Given the description of an element on the screen output the (x, y) to click on. 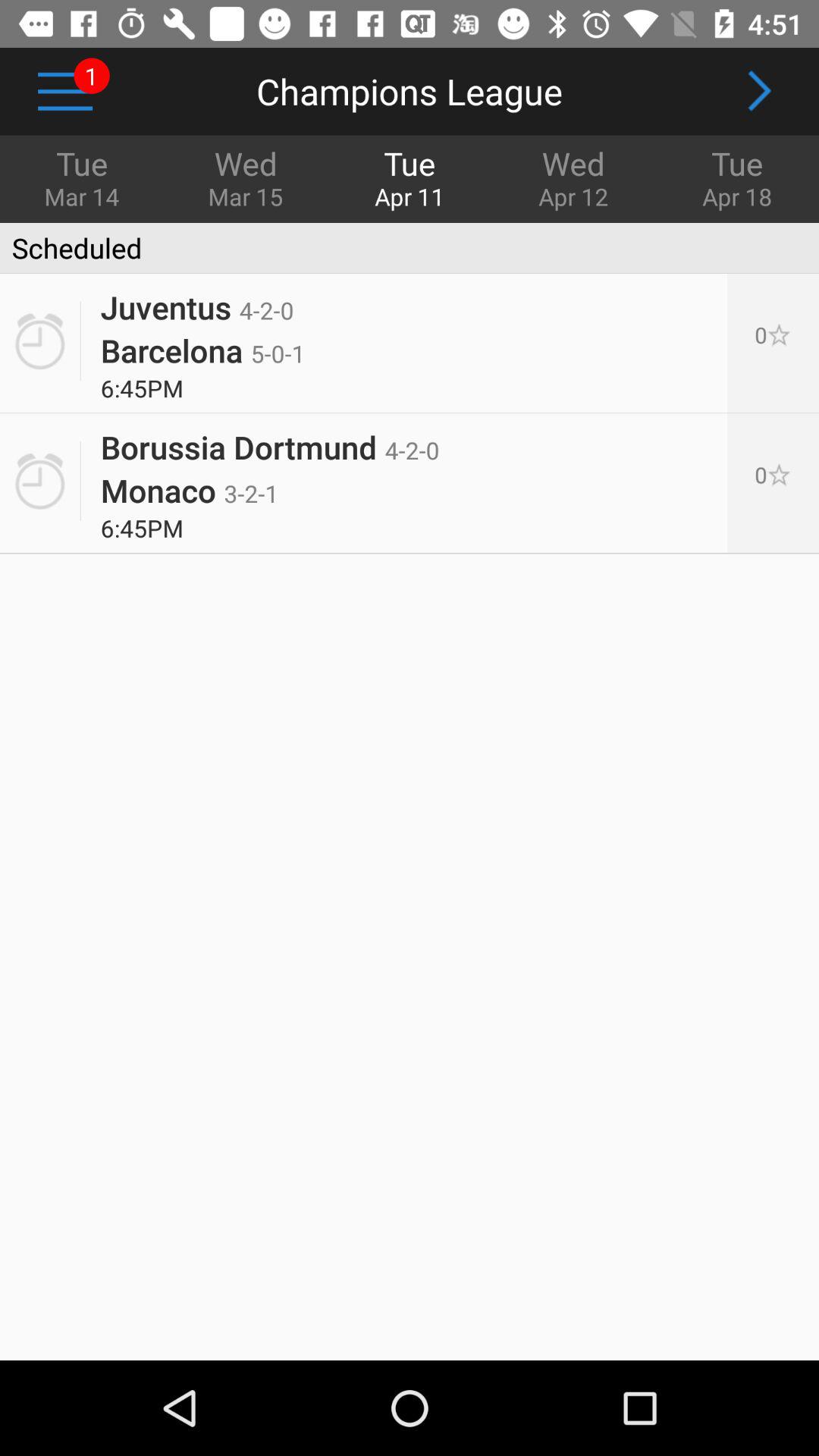
turn off barcelona 5 0 (202, 349)
